Given the description of an element on the screen output the (x, y) to click on. 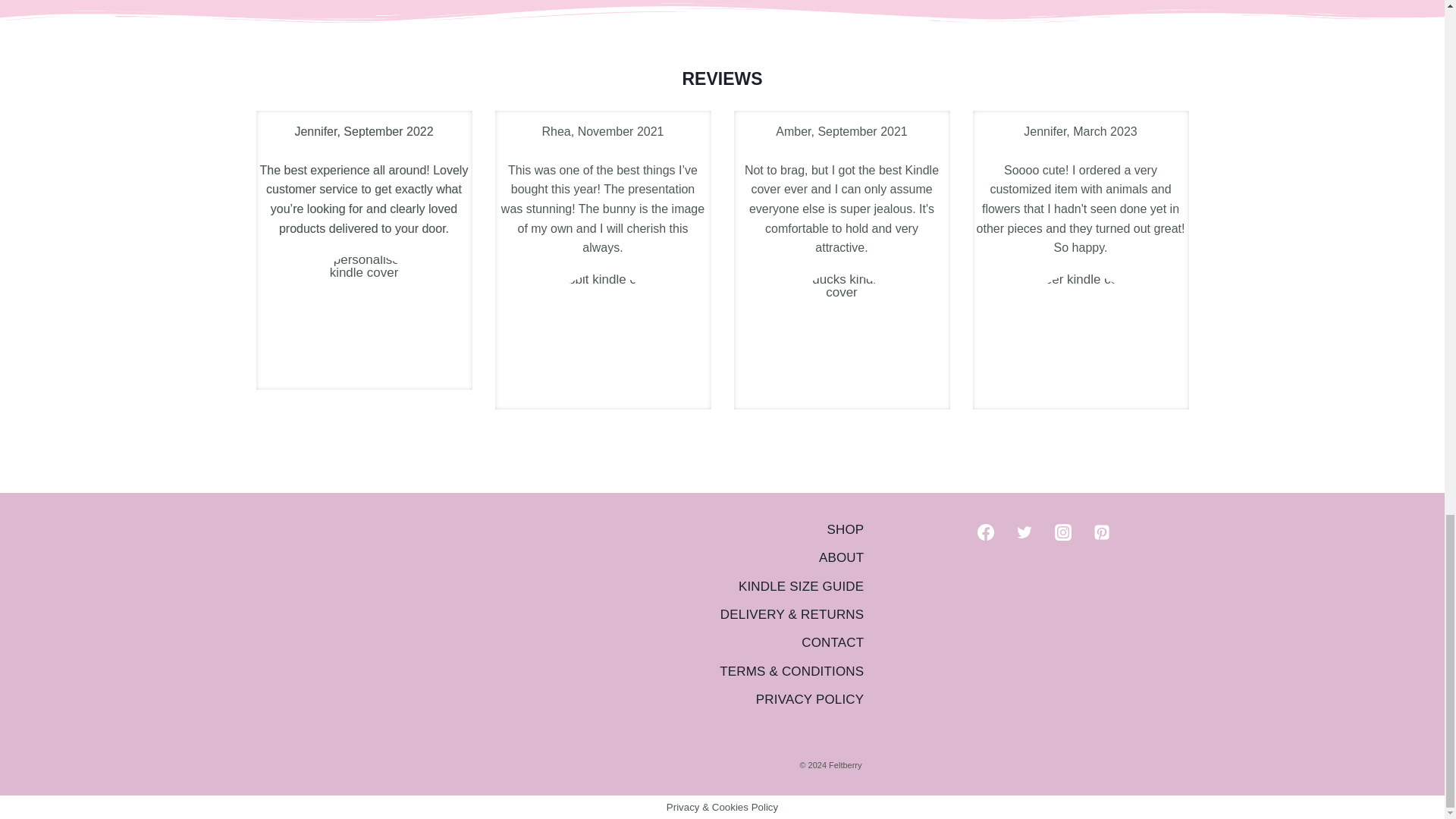
SHOP (790, 529)
PRIVACY POLICY (790, 699)
CONTACT (790, 642)
KINDLE SIZE GUIDE (790, 586)
ABOUT (790, 557)
